Given the description of an element on the screen output the (x, y) to click on. 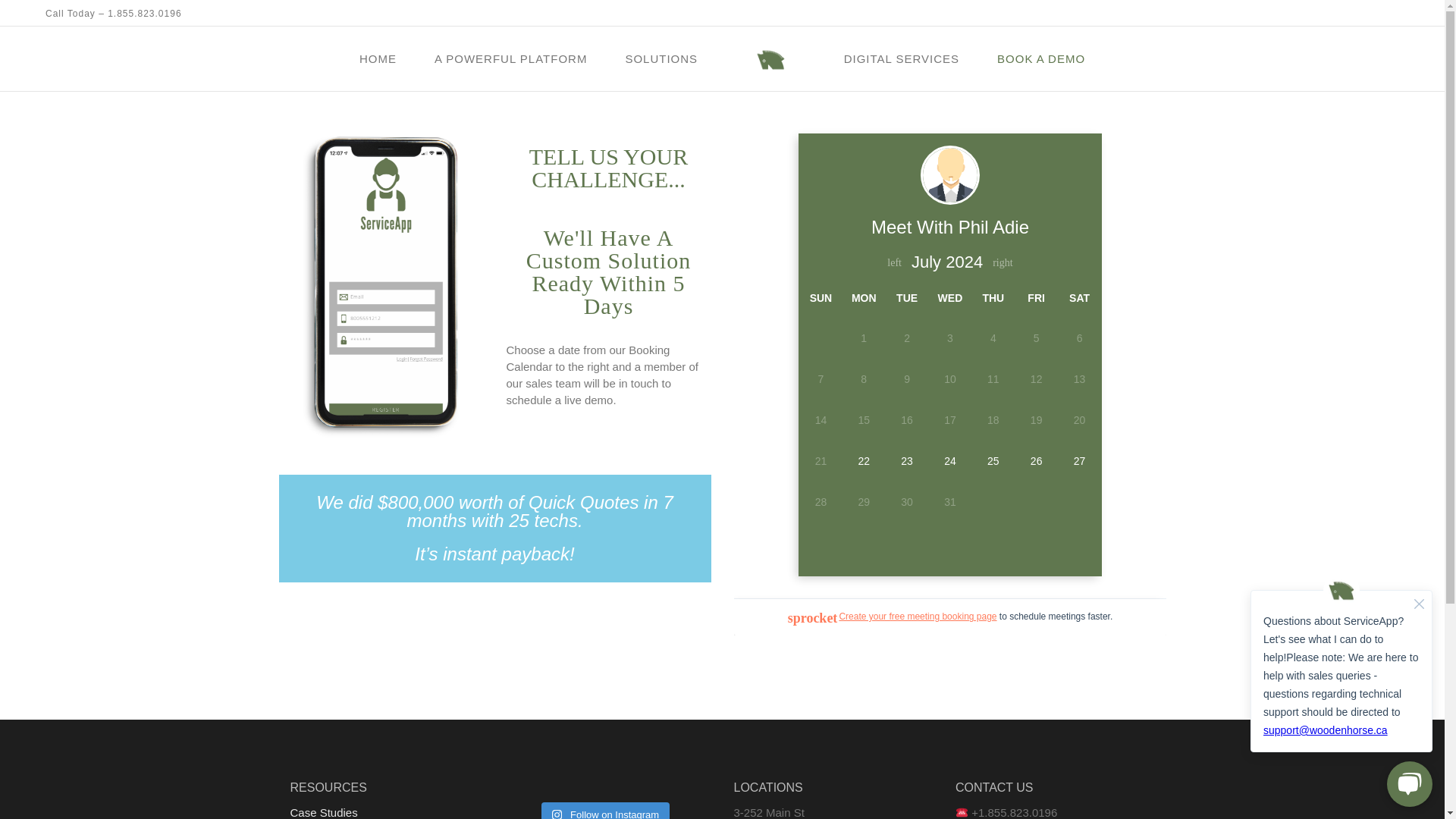
A POWERFUL PLATFORM (510, 58)
BOOK A DEMO (1040, 58)
SOLUTIONS (660, 58)
Follow on Instagram (605, 810)
DIGITAL SERVICES (901, 58)
Case Studies (322, 812)
HOME (377, 58)
